Given the description of an element on the screen output the (x, y) to click on. 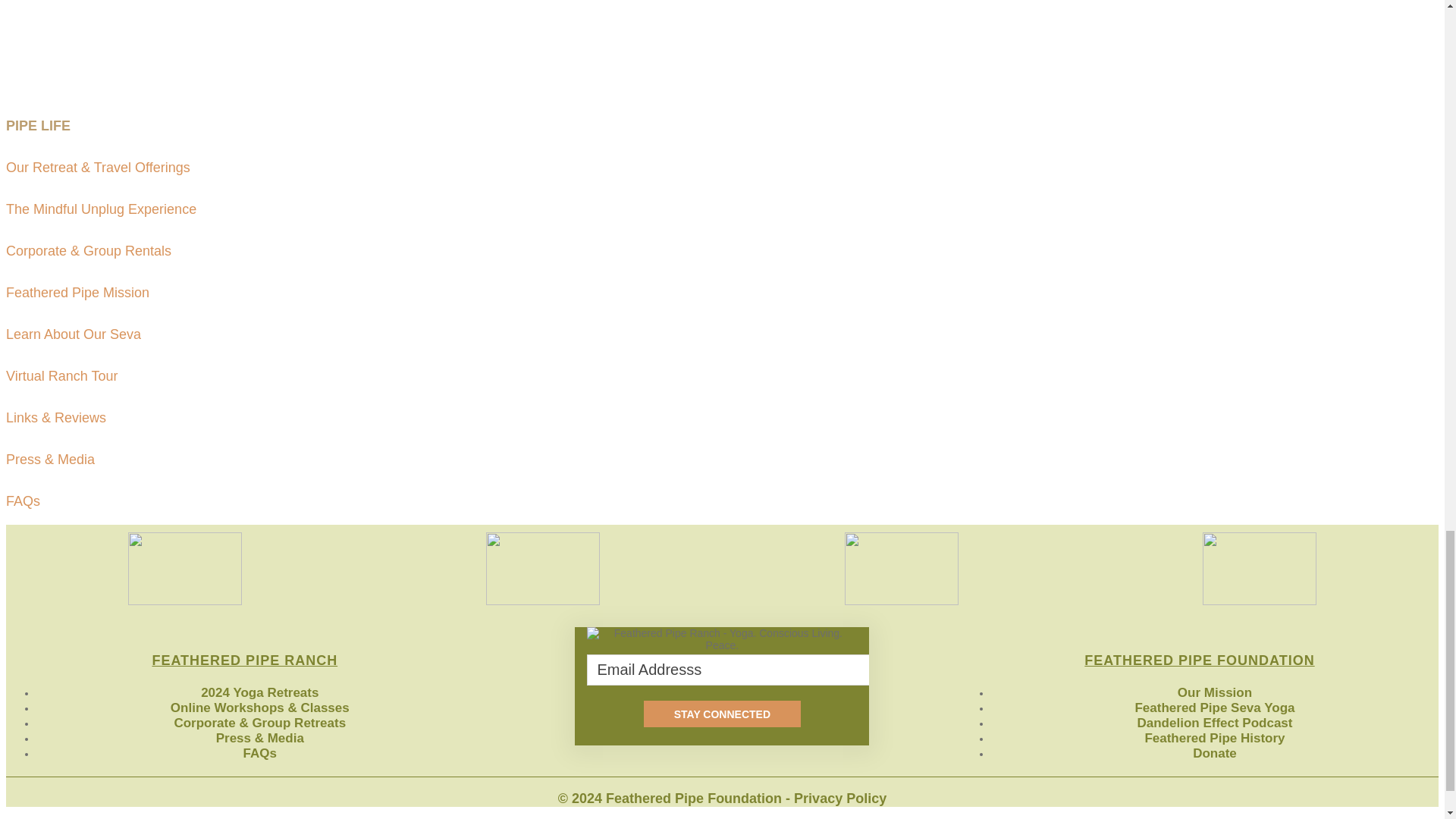
Email Addresss (731, 669)
STAY CONNECTED (721, 714)
